Given the description of an element on the screen output the (x, y) to click on. 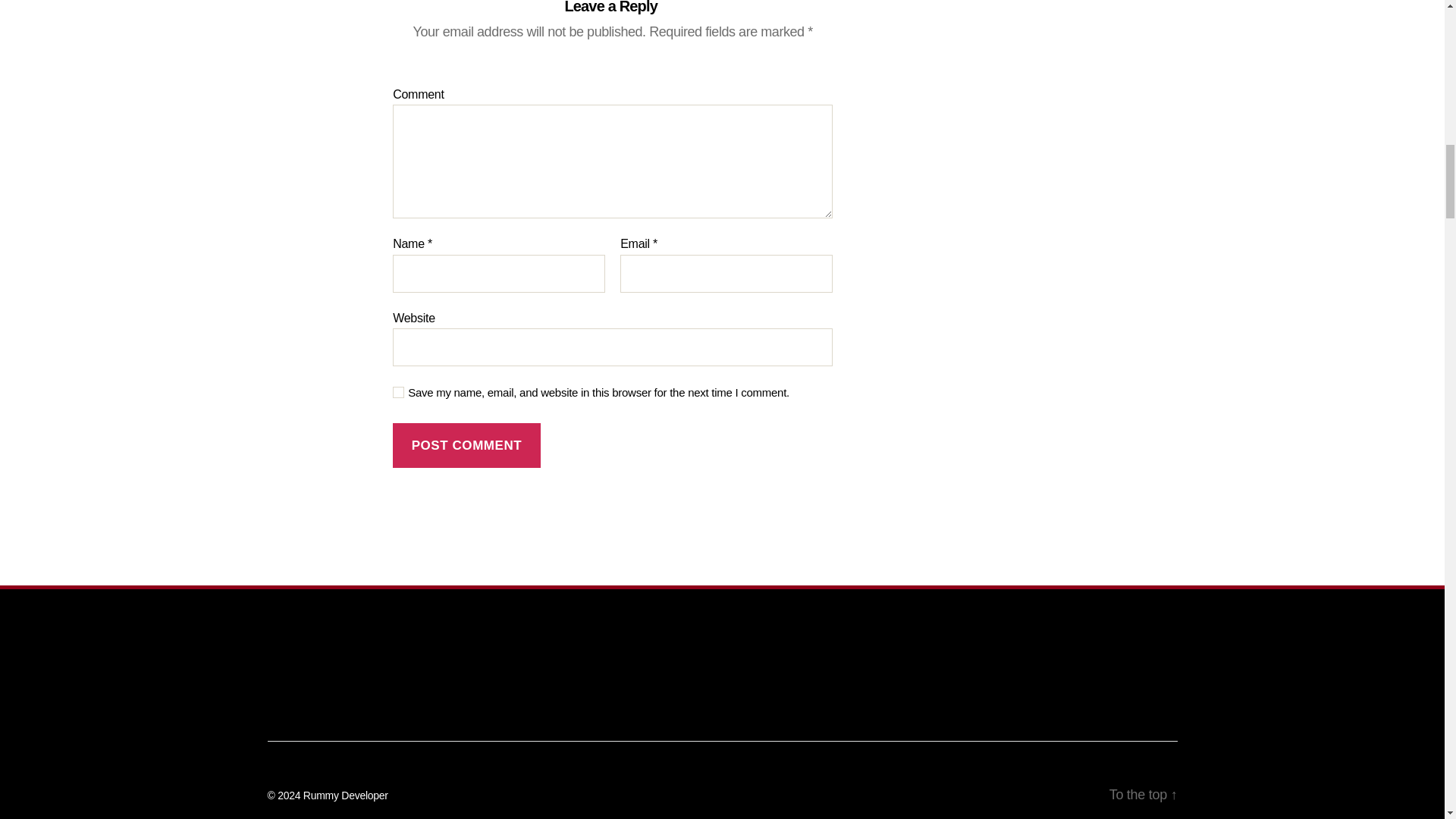
Post Comment (466, 445)
yes (398, 392)
Post Comment (466, 445)
